Given the description of an element on the screen output the (x, y) to click on. 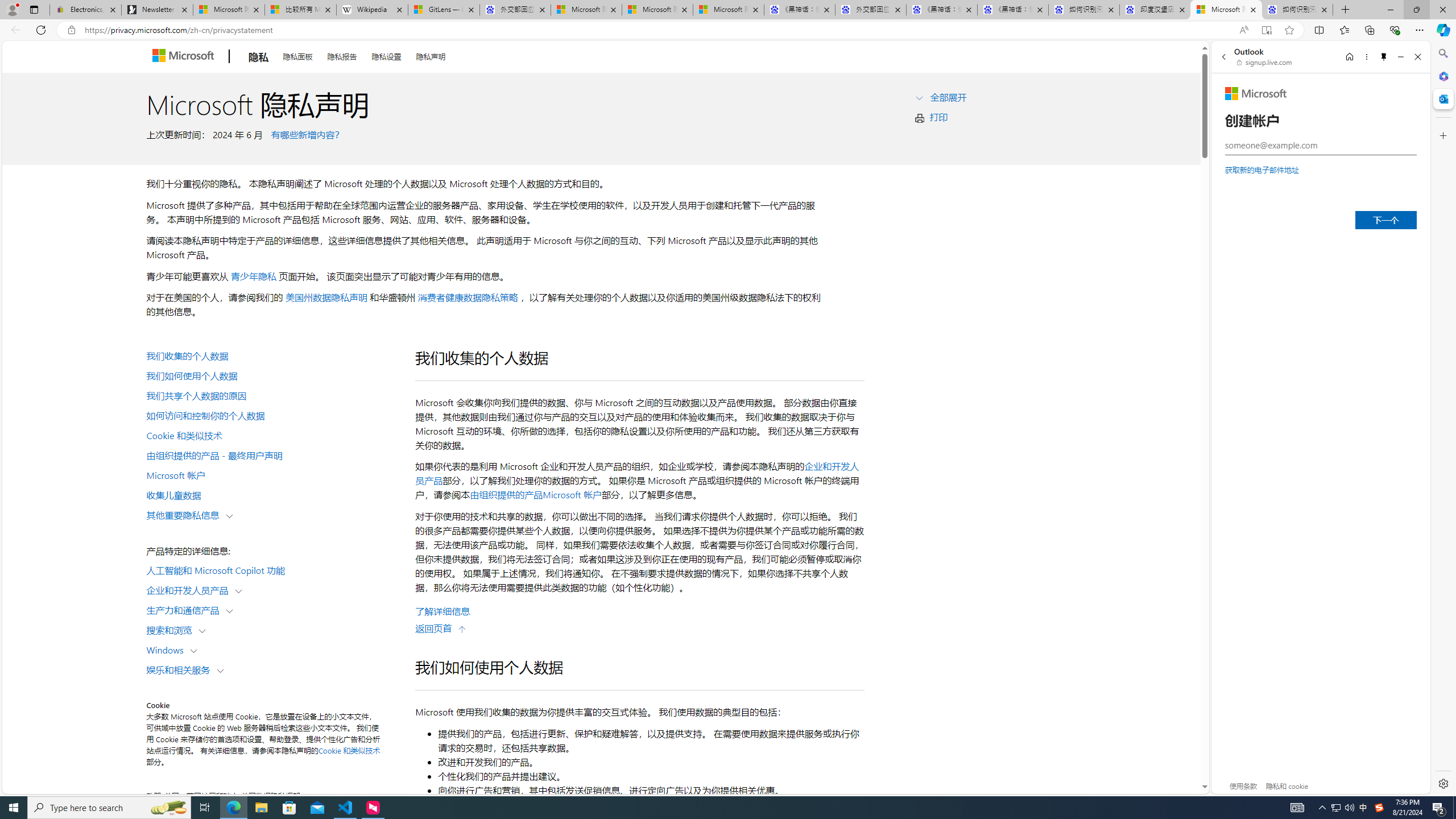
Newsletter Sign Up (157, 9)
